Given the description of an element on the screen output the (x, y) to click on. 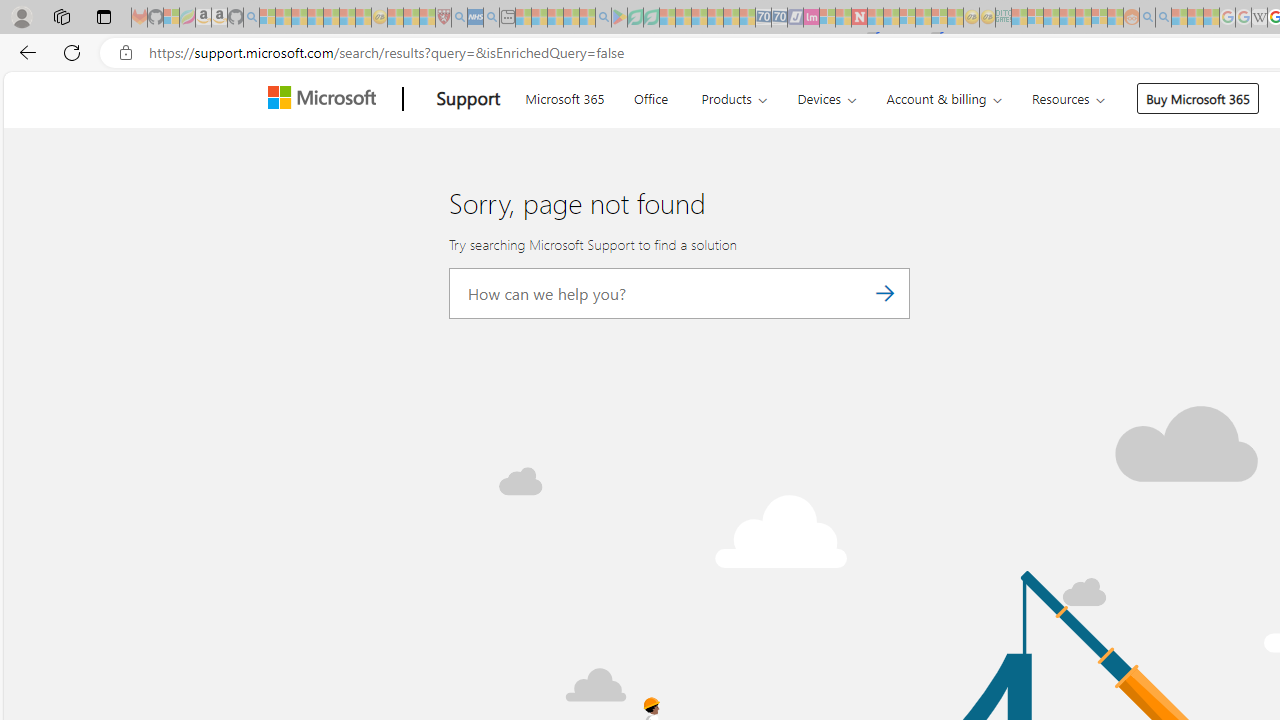
Bluey: Let's Play! - Apps on Google Play - Sleeping (619, 17)
Local - MSN - Sleeping (427, 17)
Buy Microsoft 365 (1197, 98)
Expert Portfolios - Sleeping (1067, 17)
Pets - MSN - Sleeping (571, 17)
